Given the description of an element on the screen output the (x, y) to click on. 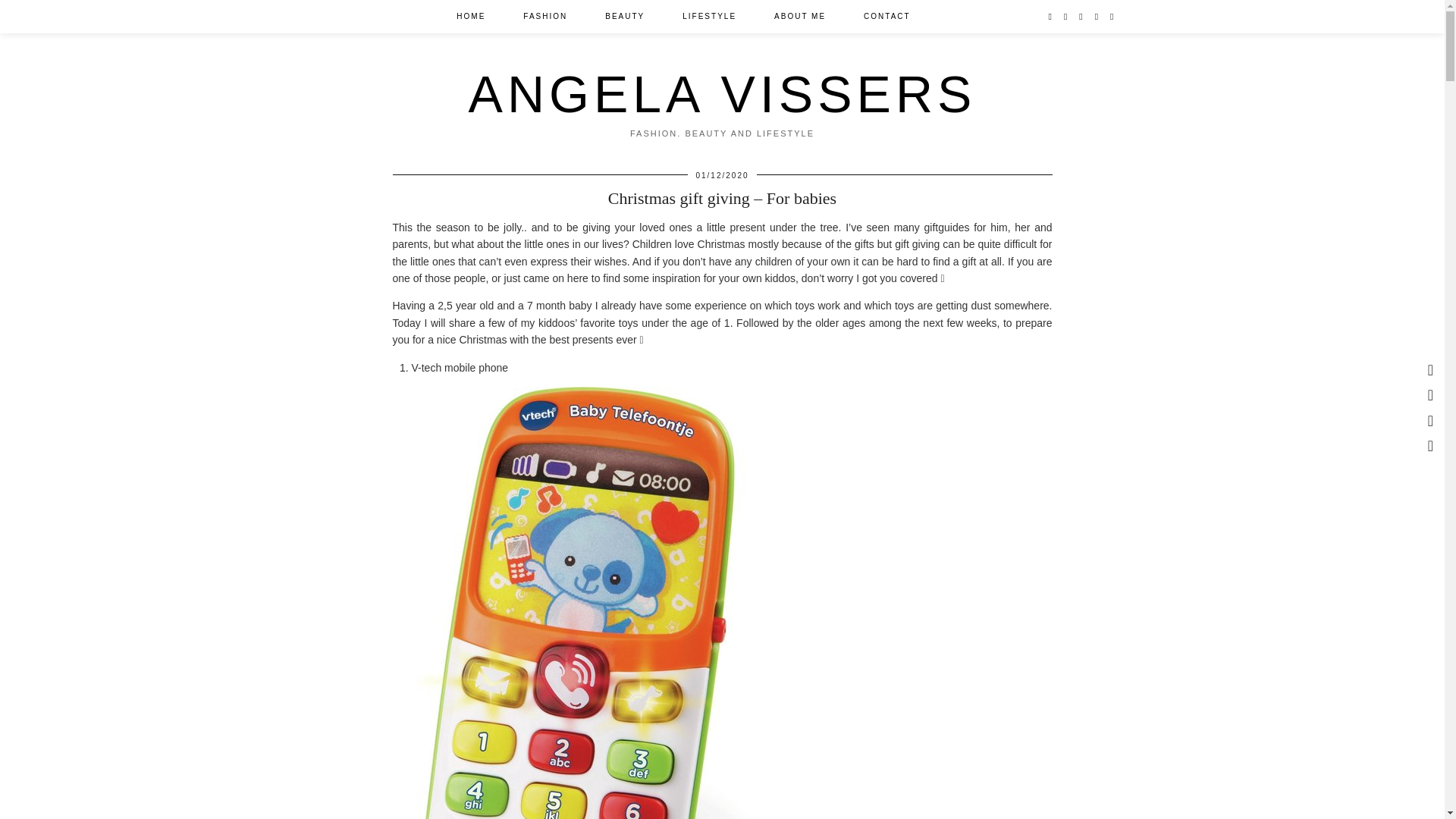
ABOUT ME (799, 16)
HOME (470, 16)
LIFESTYLE (709, 16)
BEAUTY (624, 16)
ANGELA VISSERS (722, 93)
CONTACT (887, 16)
FASHION (544, 16)
Angela Vissers (722, 93)
